Given the description of an element on the screen output the (x, y) to click on. 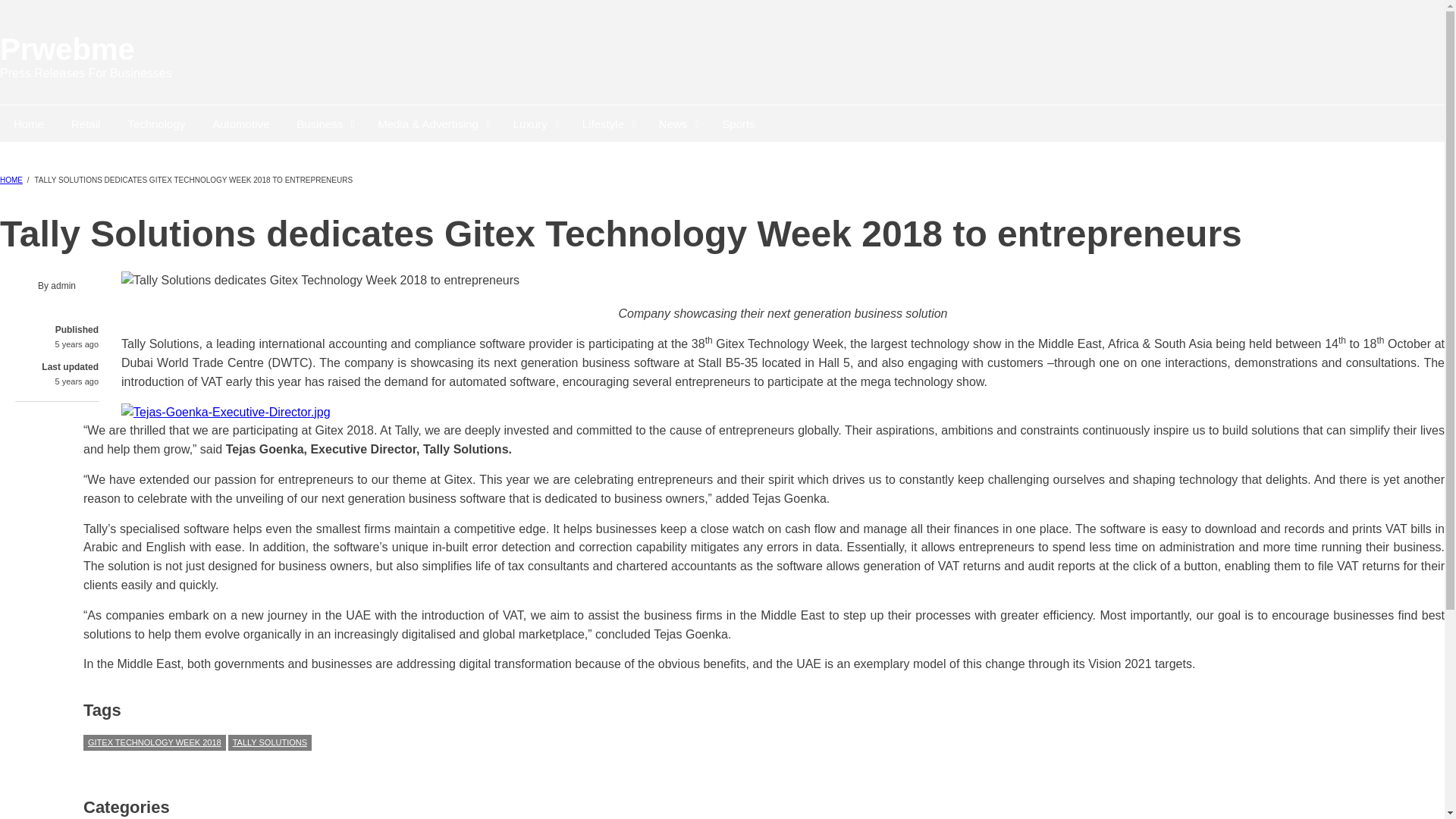
Retail (85, 123)
Lifestyle (607, 123)
Technology (155, 123)
HOME (11, 180)
TALLY SOLUTIONS (269, 742)
Sports (737, 123)
GITEX TECHNOLOGY WEEK 2018 (153, 742)
Home (67, 49)
News (677, 123)
Home (29, 123)
Automotive (240, 123)
Luxury (534, 123)
Prwebme (67, 49)
Business (323, 123)
